Given the description of an element on the screen output the (x, y) to click on. 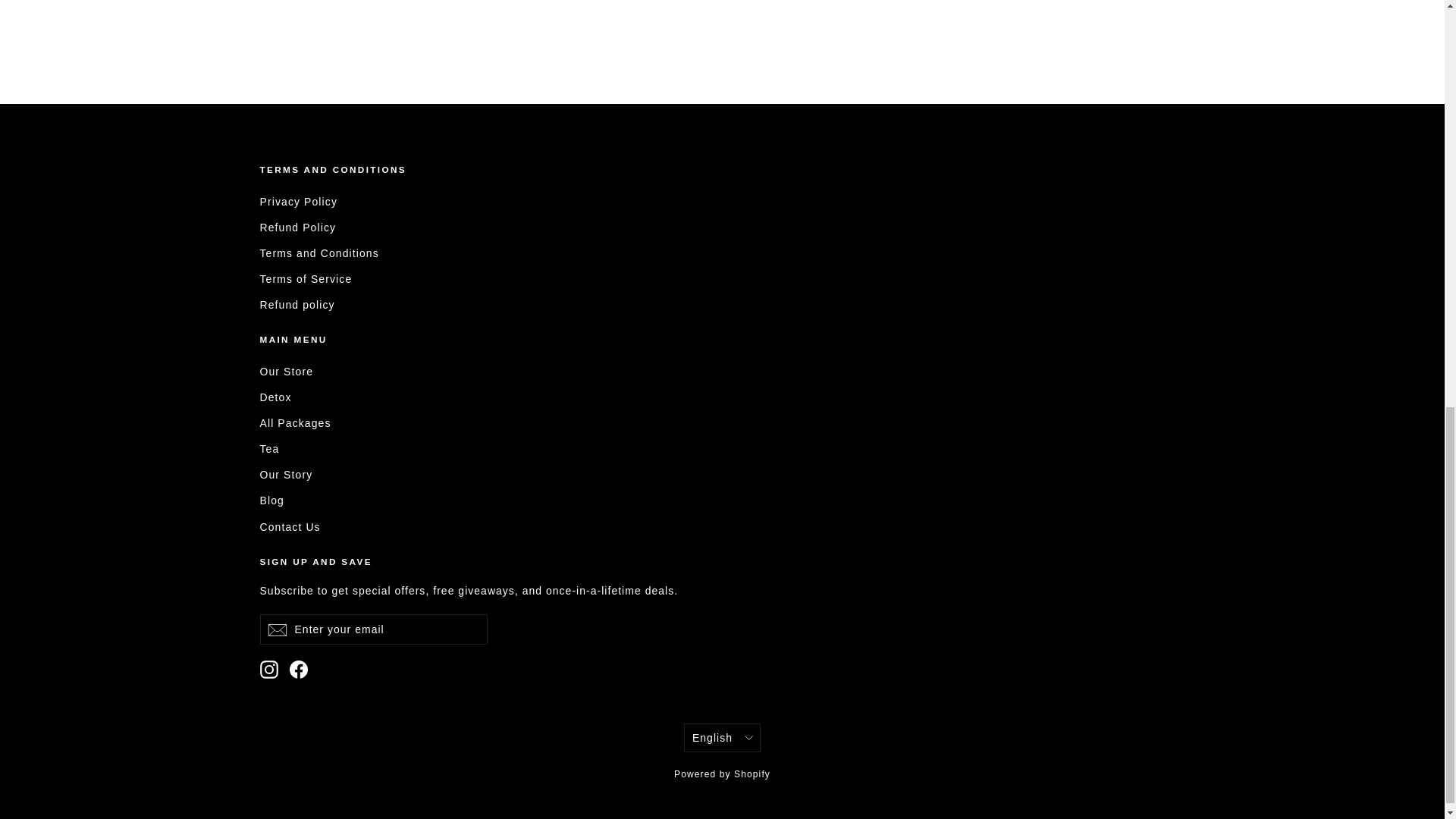
Nature My Therapy on Instagram (268, 669)
Privacy Policy (722, 201)
Nature My Therapy on Facebook (298, 669)
Refund Policy (722, 227)
icon-email (276, 629)
Terms and Conditions (722, 252)
instagram (268, 669)
